Given the description of an element on the screen output the (x, y) to click on. 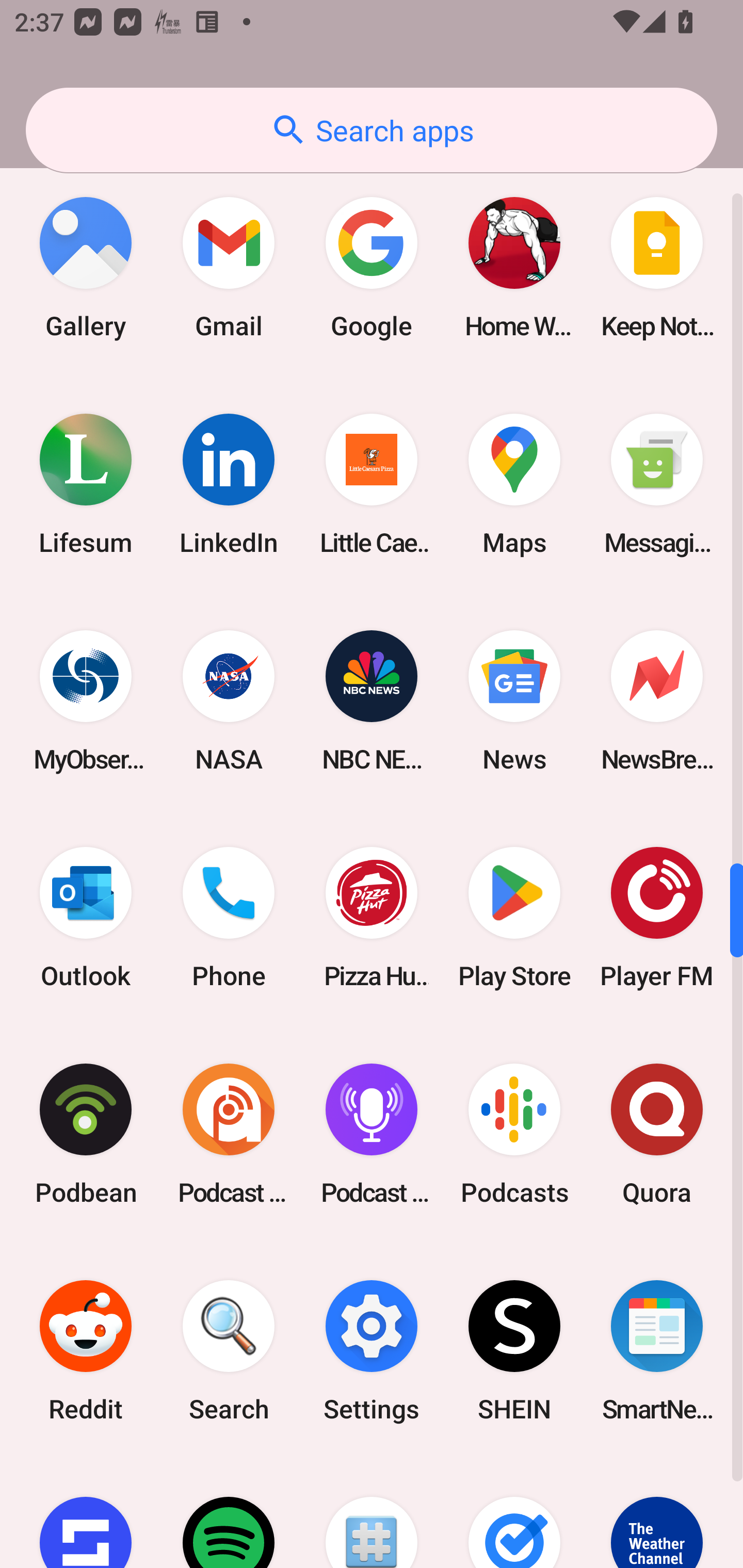
  Search apps (371, 130)
Gallery (85, 267)
Gmail (228, 267)
Google (371, 267)
Home Workout (514, 267)
Keep Notes (656, 267)
Lifesum (85, 484)
LinkedIn (228, 484)
Little Caesars Pizza (371, 484)
Maps (514, 484)
Messaging (656, 484)
MyObservatory (85, 700)
NASA (228, 700)
NBC NEWS (371, 700)
News (514, 700)
NewsBreak (656, 700)
Outlook (85, 917)
Phone (228, 917)
Pizza Hut HK & Macau (371, 917)
Play Store (514, 917)
Player FM (656, 917)
Podbean (85, 1133)
Podcast Addict (228, 1133)
Podcast Player (371, 1133)
Podcasts (514, 1133)
Quora (656, 1133)
Reddit (85, 1350)
Search (228, 1350)
Settings (371, 1350)
SHEIN (514, 1350)
SmartNews (656, 1350)
